Given the description of an element on the screen output the (x, y) to click on. 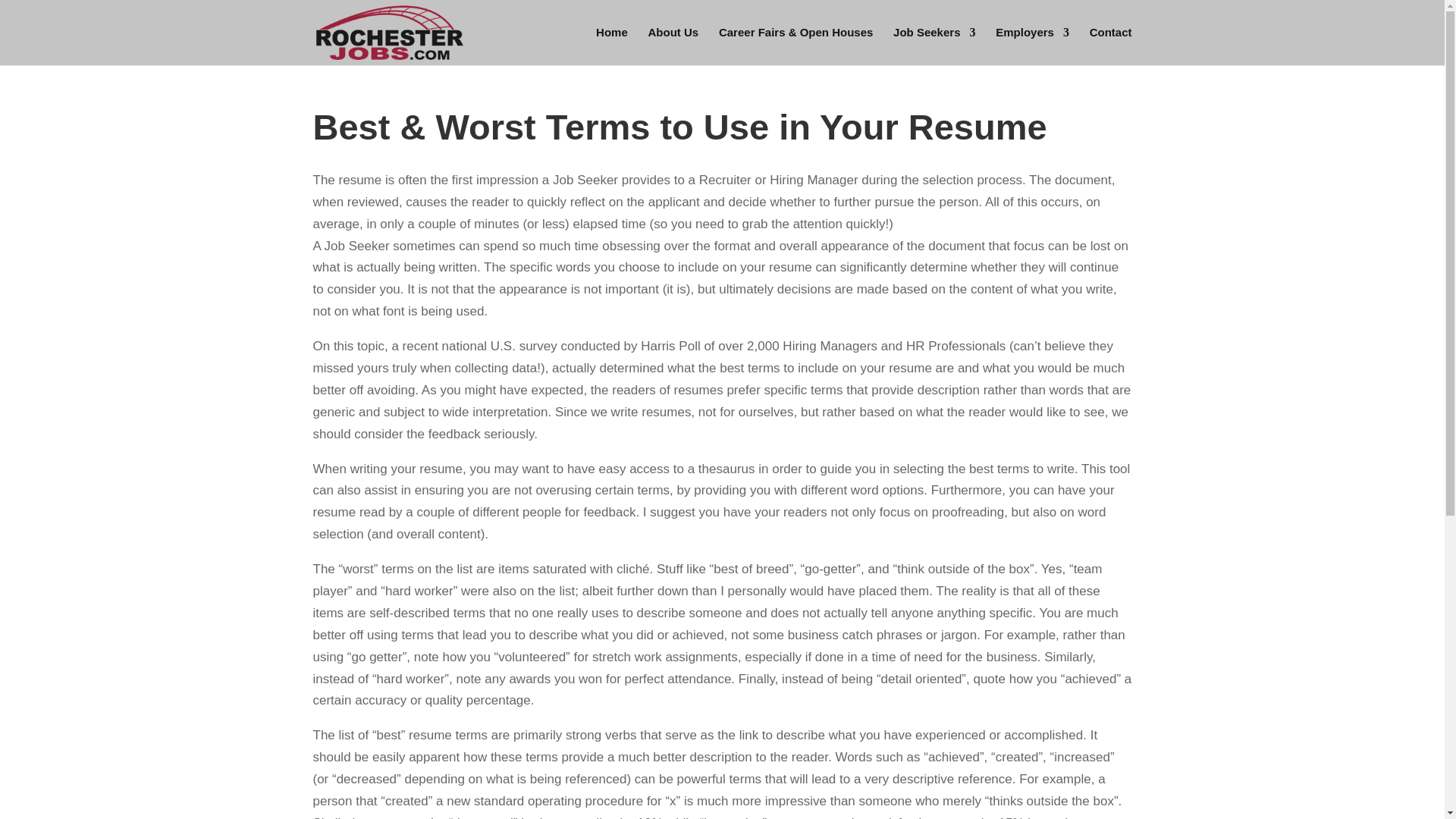
About Us (672, 46)
Contact (1110, 46)
Employers (1031, 46)
Job Seekers (934, 46)
